Given the description of an element on the screen output the (x, y) to click on. 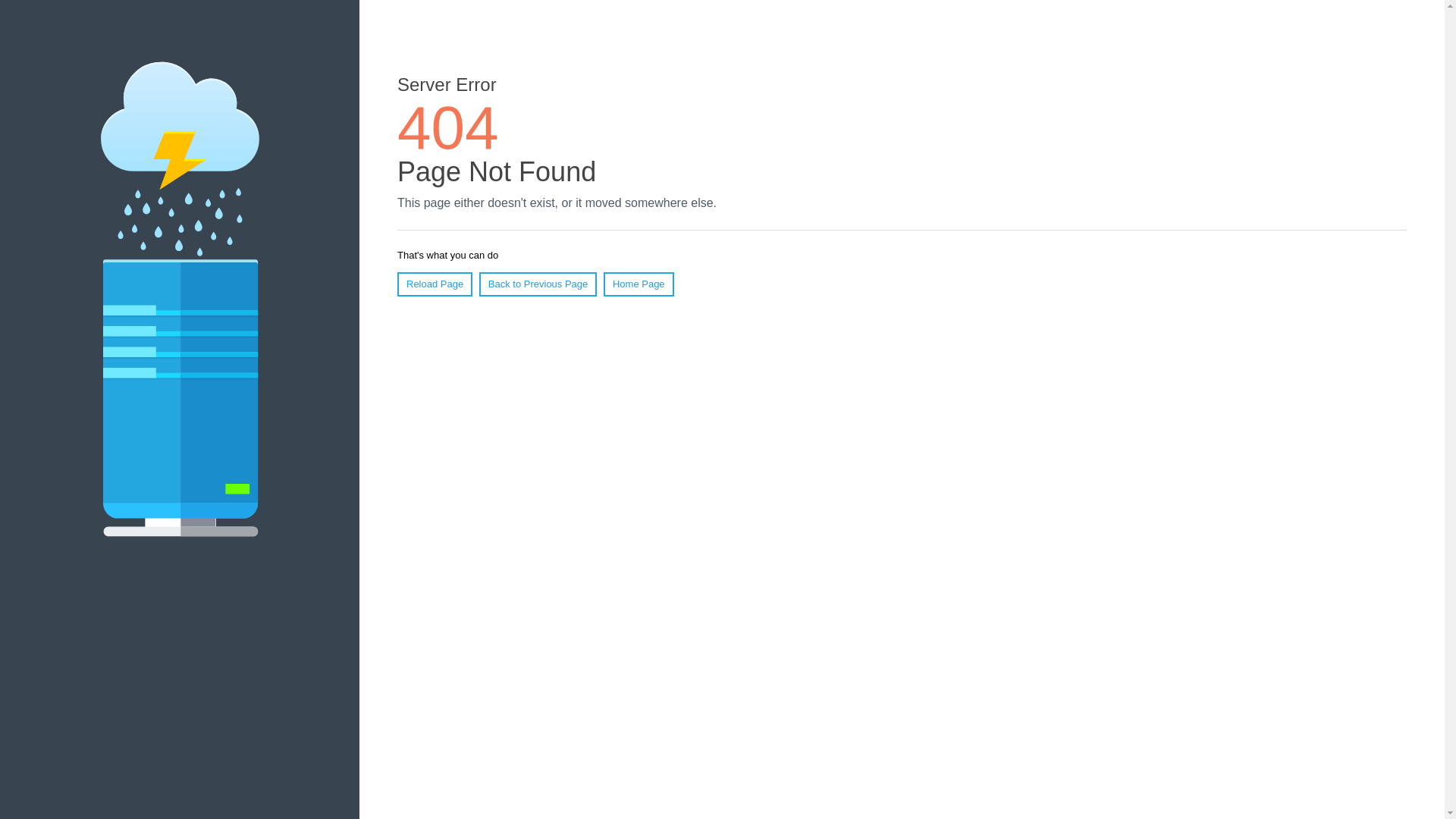
Back to Previous Page Element type: text (538, 284)
Home Page Element type: text (638, 284)
Reload Page Element type: text (434, 284)
